Given the description of an element on the screen output the (x, y) to click on. 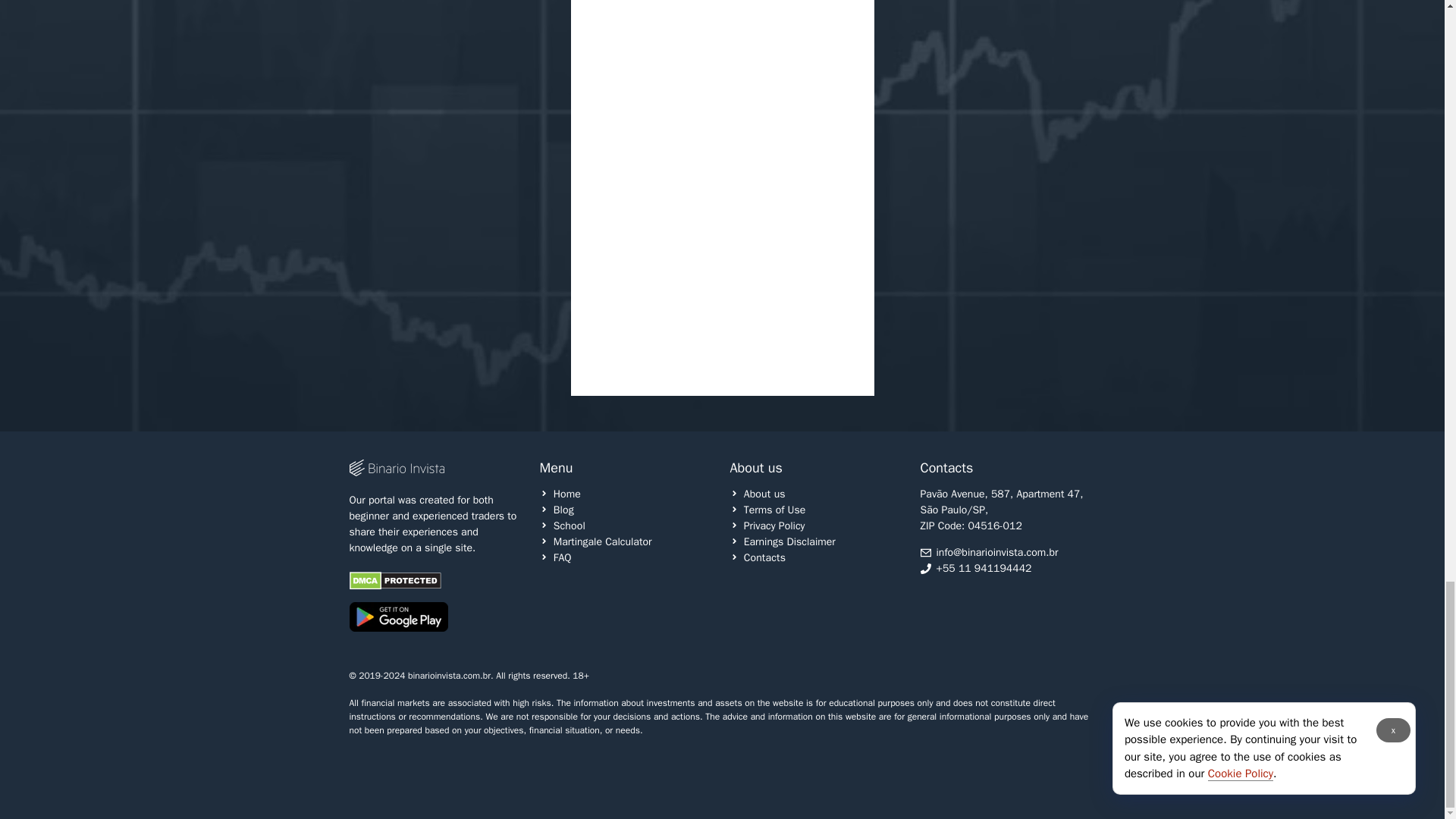
DMCA.com Protection Status (395, 585)
Blog (556, 509)
Home (560, 494)
